Given the description of an element on the screen output the (x, y) to click on. 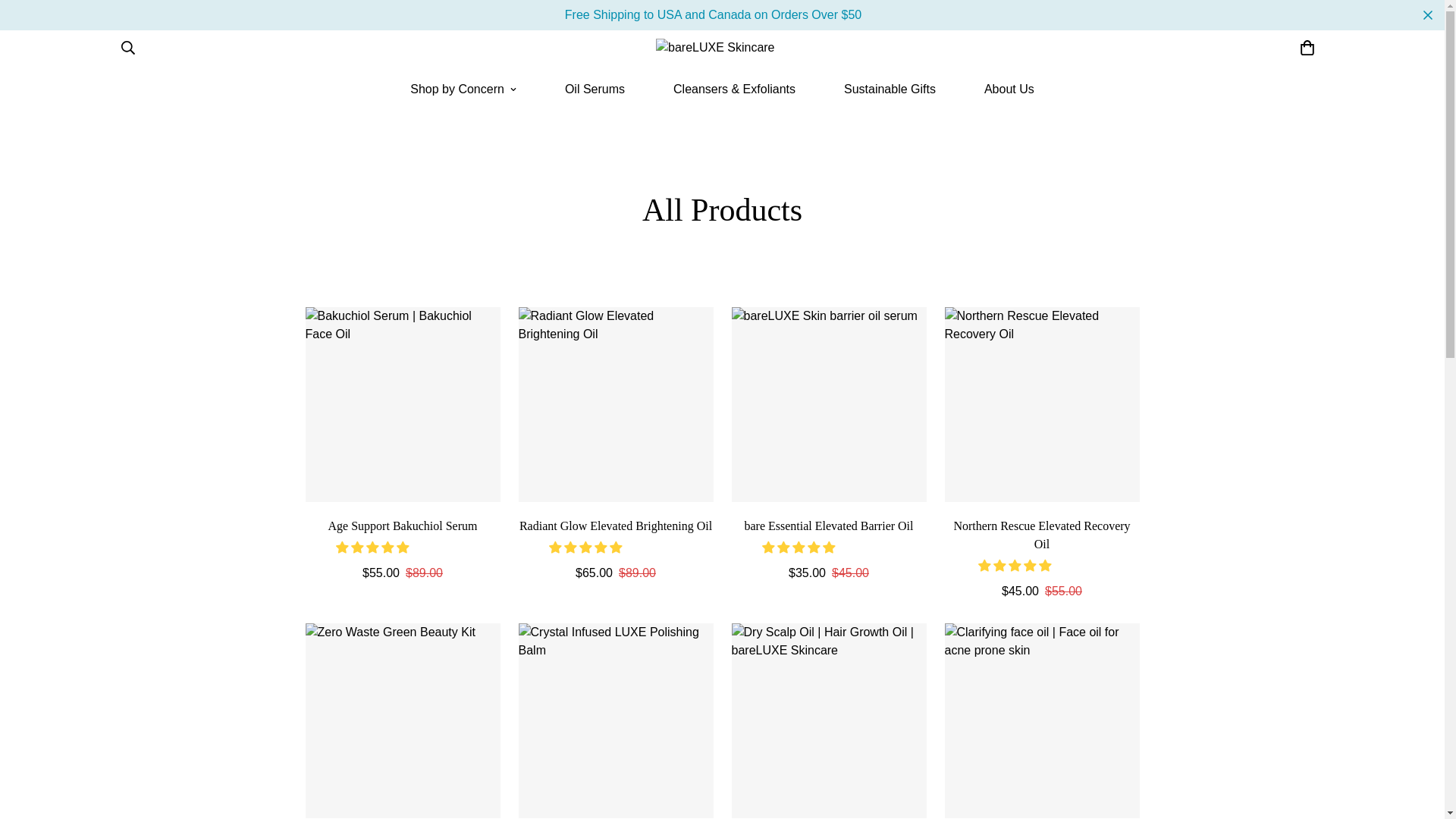
About Us Element type: text (1009, 88)
Sustainable Gifts Element type: text (889, 88)
Northern Rescue Elevated Recovery Oil Element type: text (1041, 535)
bareLUXE Skincare Element type: hover (721, 47)
Age Support Bakuchiol Serum Element type: text (401, 526)
Oil Serums Element type: text (594, 88)
bare Essential Elevated Barrier Oil Element type: text (828, 526)
Shop by Concern Element type: text (462, 88)
Cleansers & Exfoliants Element type: text (734, 88)
Radiant Glow Elevated Brightening Oil Element type: text (615, 526)
